Given the description of an element on the screen output the (x, y) to click on. 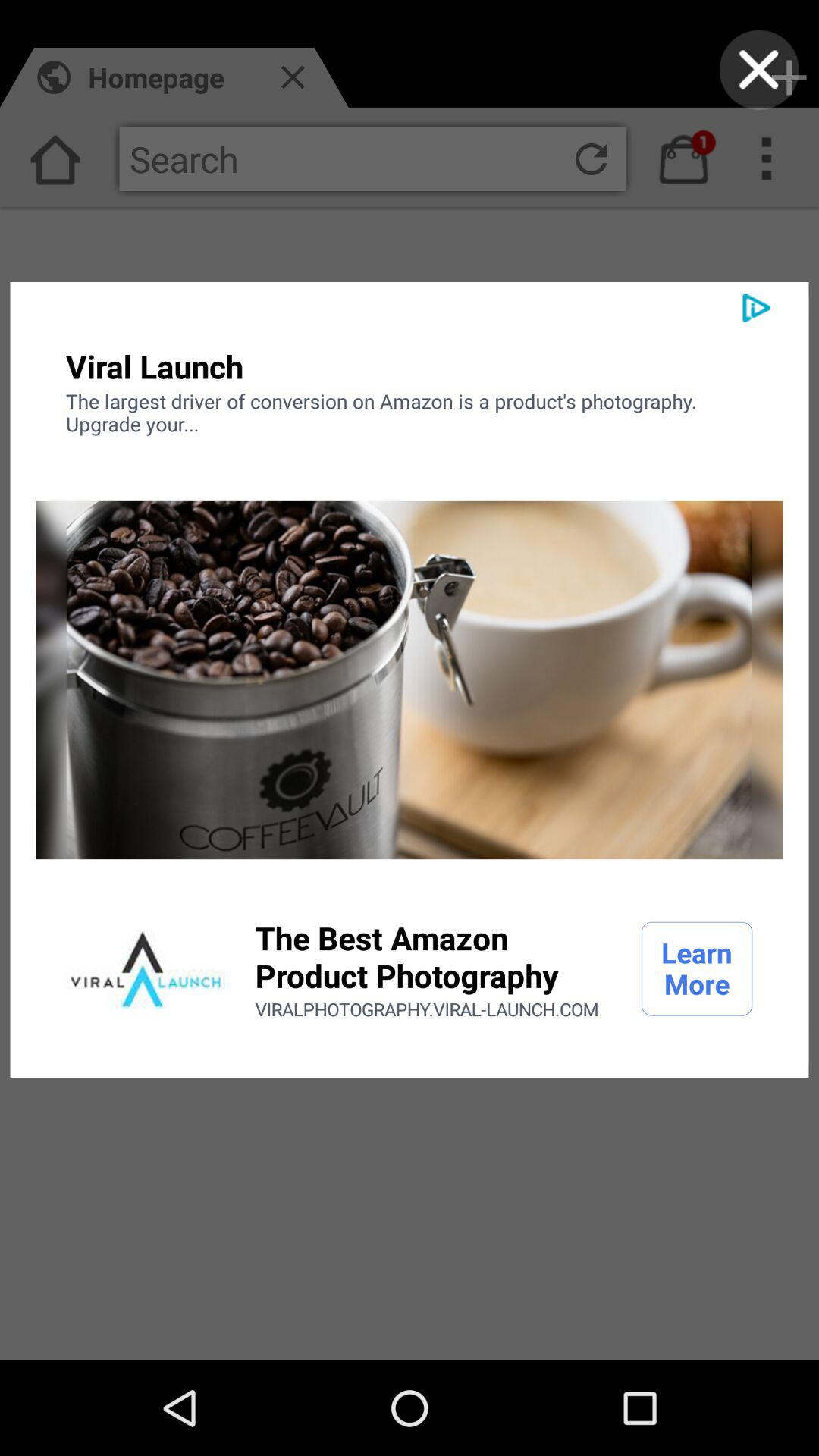
exit all (759, 69)
